Given the description of an element on the screen output the (x, y) to click on. 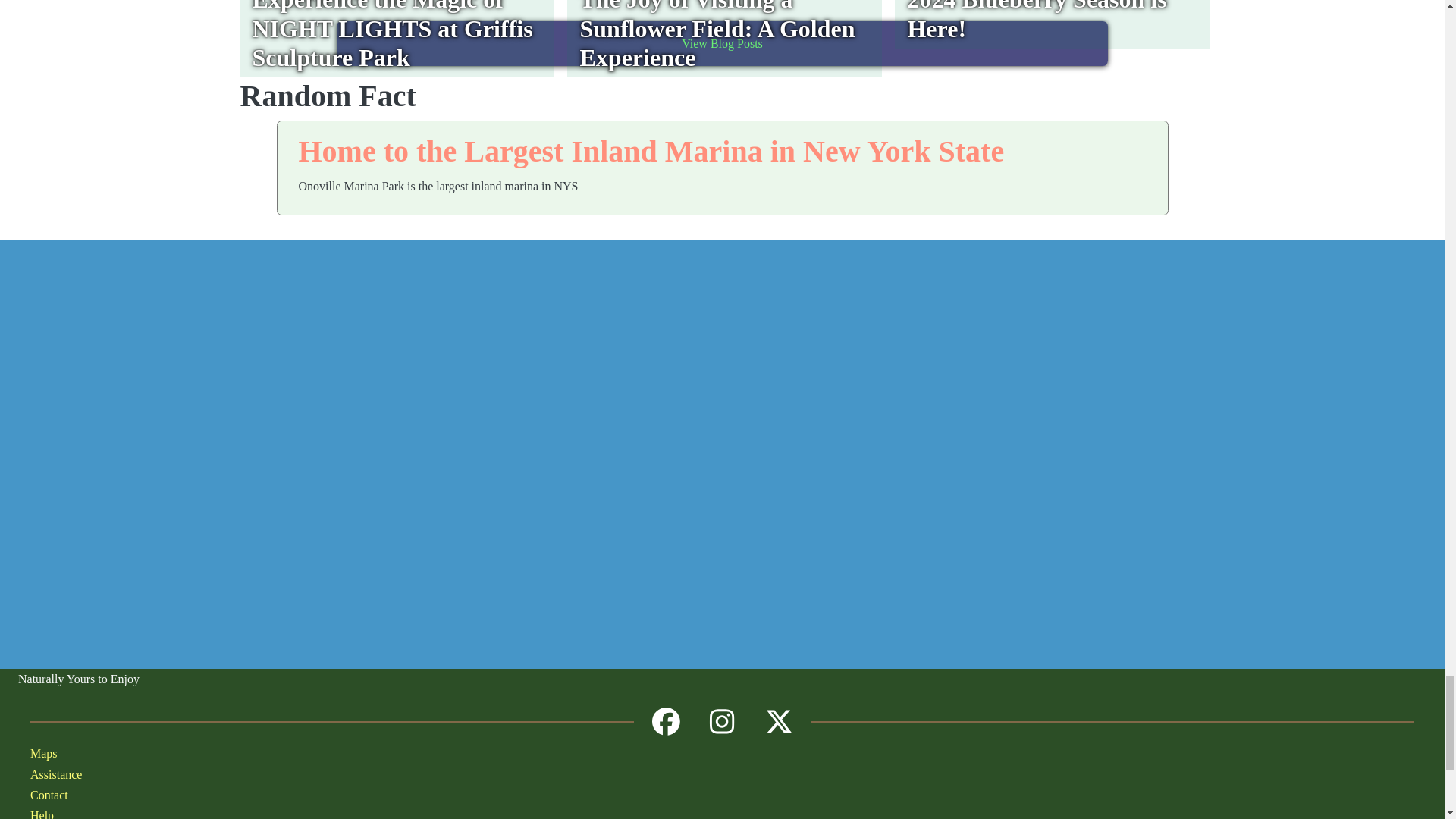
Enchanted Mountains on Twitter (778, 721)
Enchanted Mountains on Facebook (665, 721)
Tourism Assistance (205, 774)
